Given the description of an element on the screen output the (x, y) to click on. 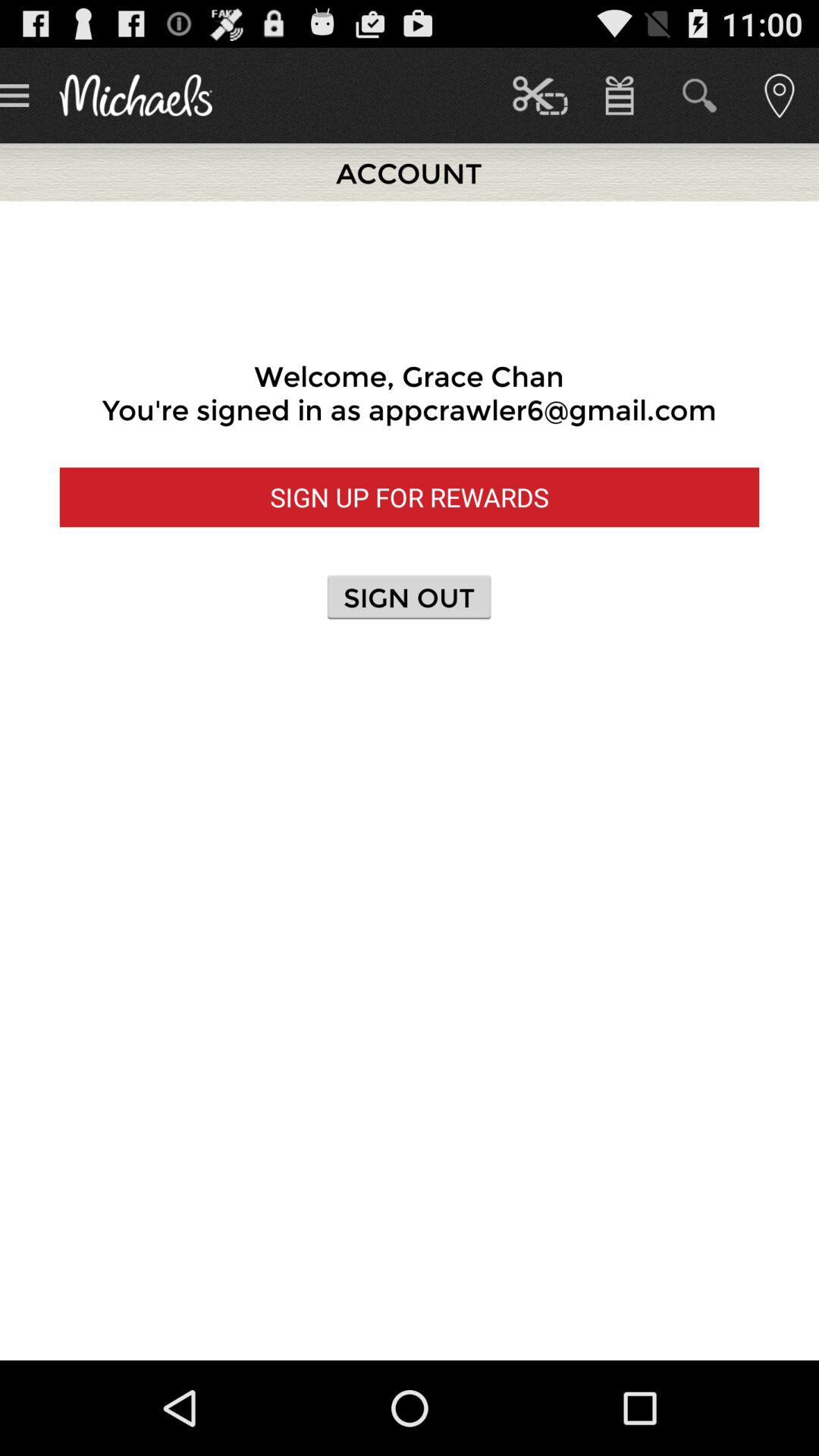
open button below sign up for button (408, 596)
